Given the description of an element on the screen output the (x, y) to click on. 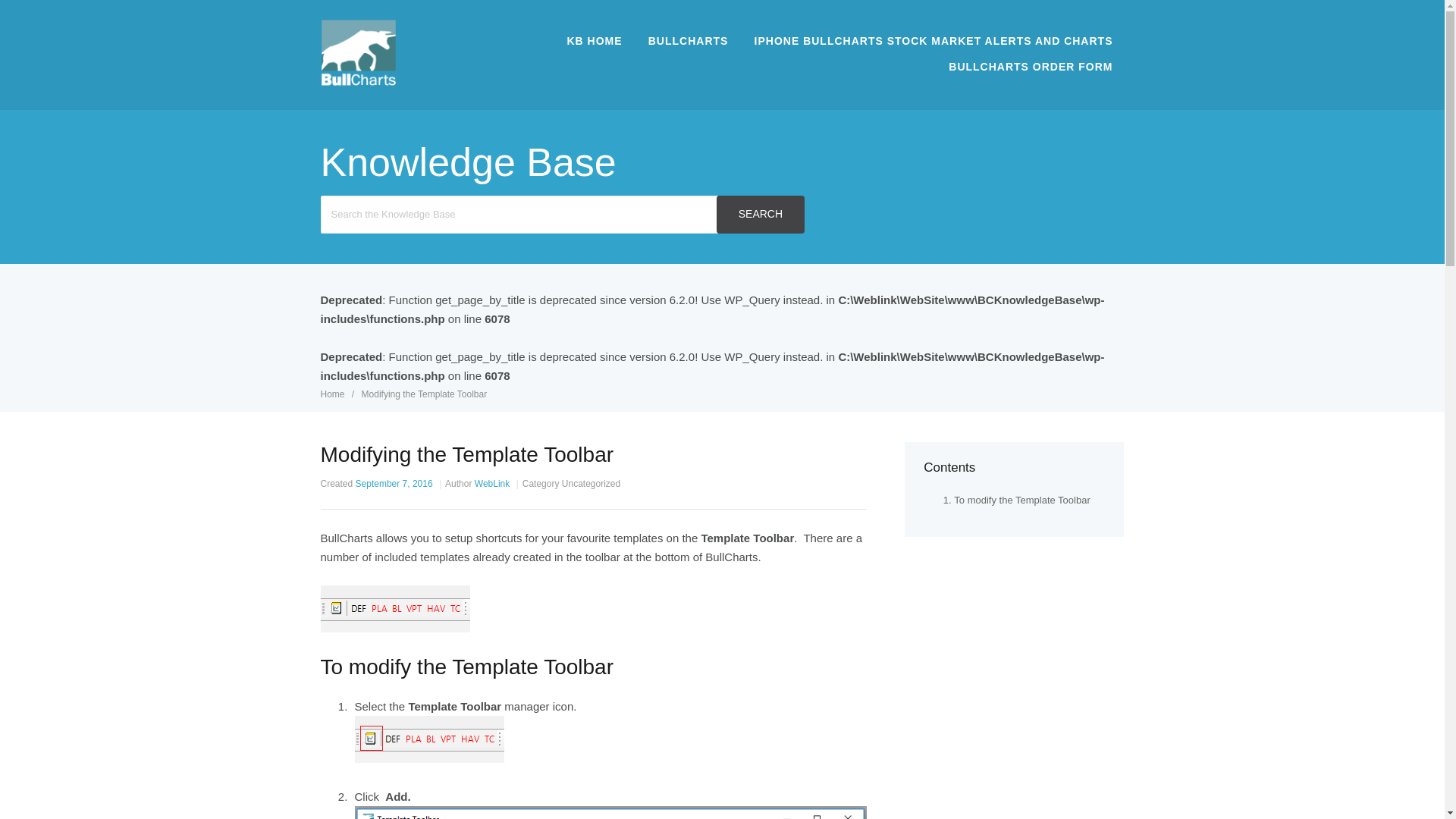
September 7, 2016 (393, 483)
Modifying the Template Toolbar (424, 394)
WebLink (491, 483)
Modifying the Template Toolbar (424, 394)
Home (333, 394)
WebLink (491, 483)
To modify the Template Toolbar (1021, 500)
BULLCHARTS (688, 40)
BULLCHARTS ORDER FORM (1030, 66)
Home (333, 394)
IPHONE BULLCHARTS STOCK MARKET ALERTS AND CHARTS (933, 40)
BullCharts Knowledge Base (357, 81)
SEARCH (759, 214)
KB HOME (593, 40)
